Given the description of an element on the screen output the (x, y) to click on. 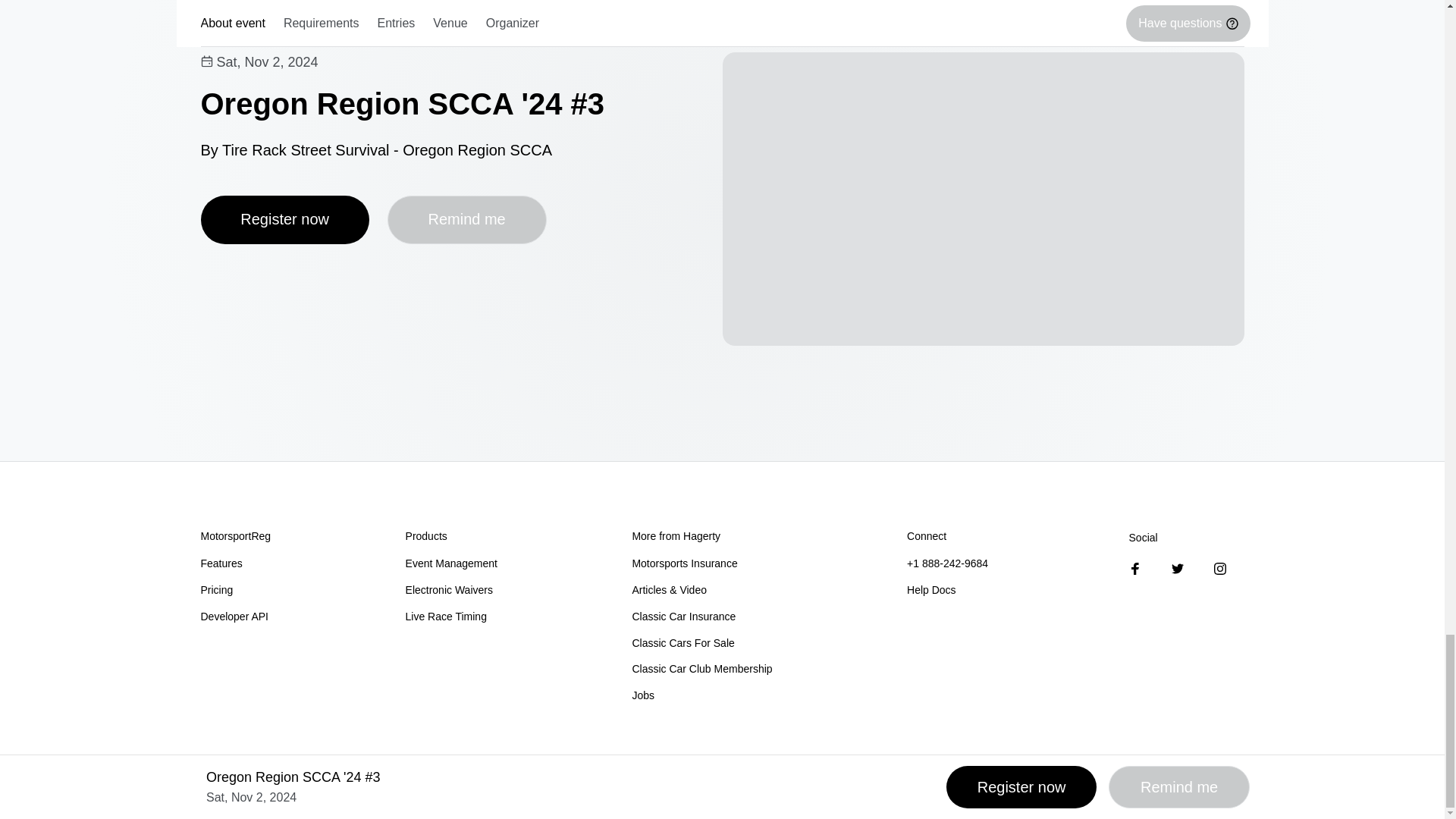
Instagram (1219, 568)
Twitter (1177, 568)
Remind me (467, 219)
Register now (284, 219)
Facebook (1135, 568)
